Given the description of an element on the screen output the (x, y) to click on. 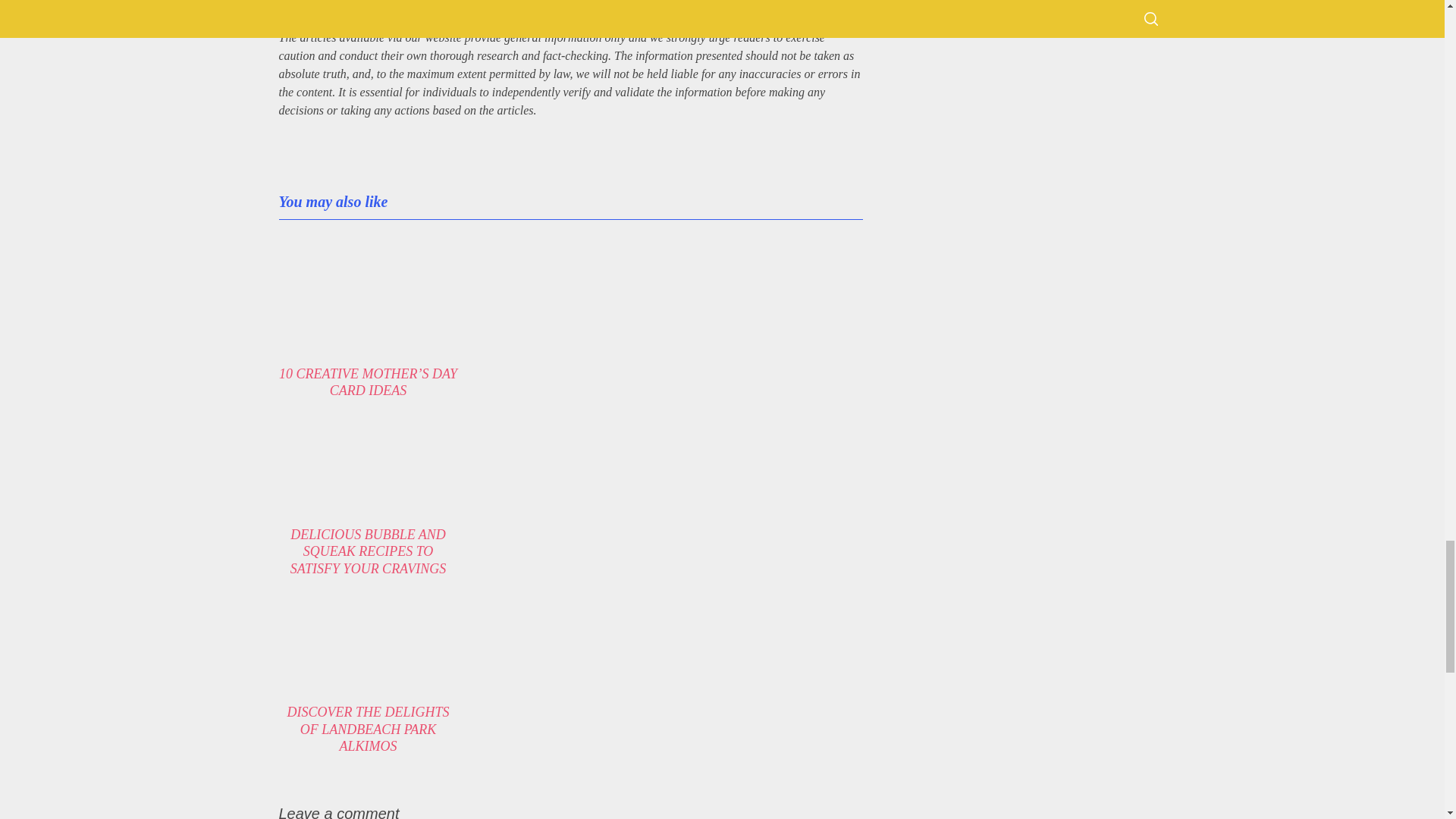
DELICIOUS BUBBLE AND SQUEAK RECIPES TO SATISFY YOUR CRAVINGS (367, 551)
DISCOVER THE DELIGHTS OF LANDBEACH PARK ALKIMOS (367, 728)
